Given the description of an element on the screen output the (x, y) to click on. 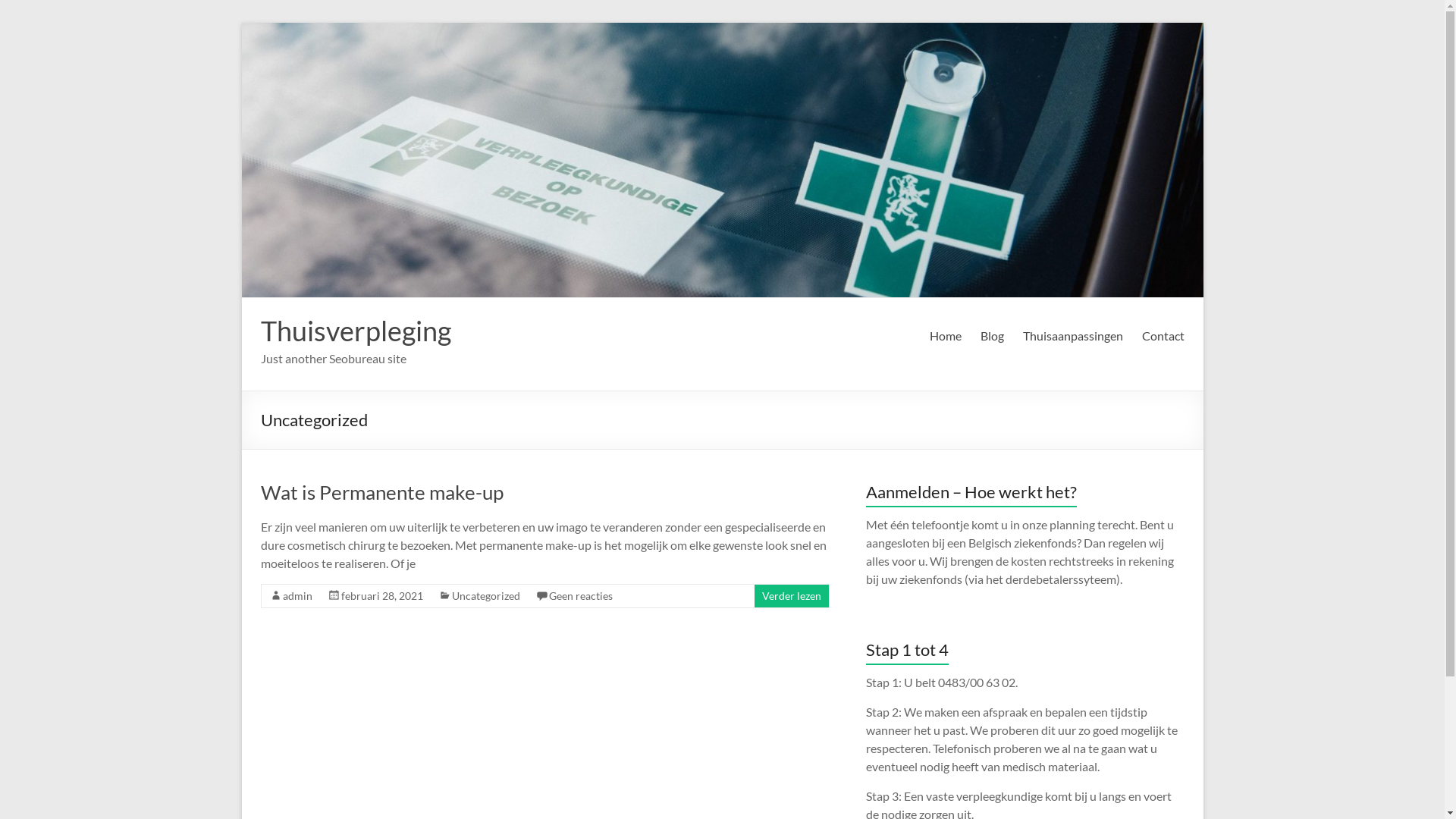
Contact Element type: text (1163, 335)
Wat is Permanente make-up Element type: text (381, 492)
februari 28, 2021 Element type: text (382, 595)
Uncategorized Element type: text (485, 595)
Verder lezen Element type: text (790, 595)
Thuisverpleging Element type: text (355, 330)
Home Element type: text (945, 335)
admin Element type: text (296, 595)
Ga naar inhoud Element type: text (241, 21)
Thuisaanpassingen Element type: text (1072, 335)
Blog Element type: text (991, 335)
Geen reacties Element type: text (580, 595)
